Given the description of an element on the screen output the (x, y) to click on. 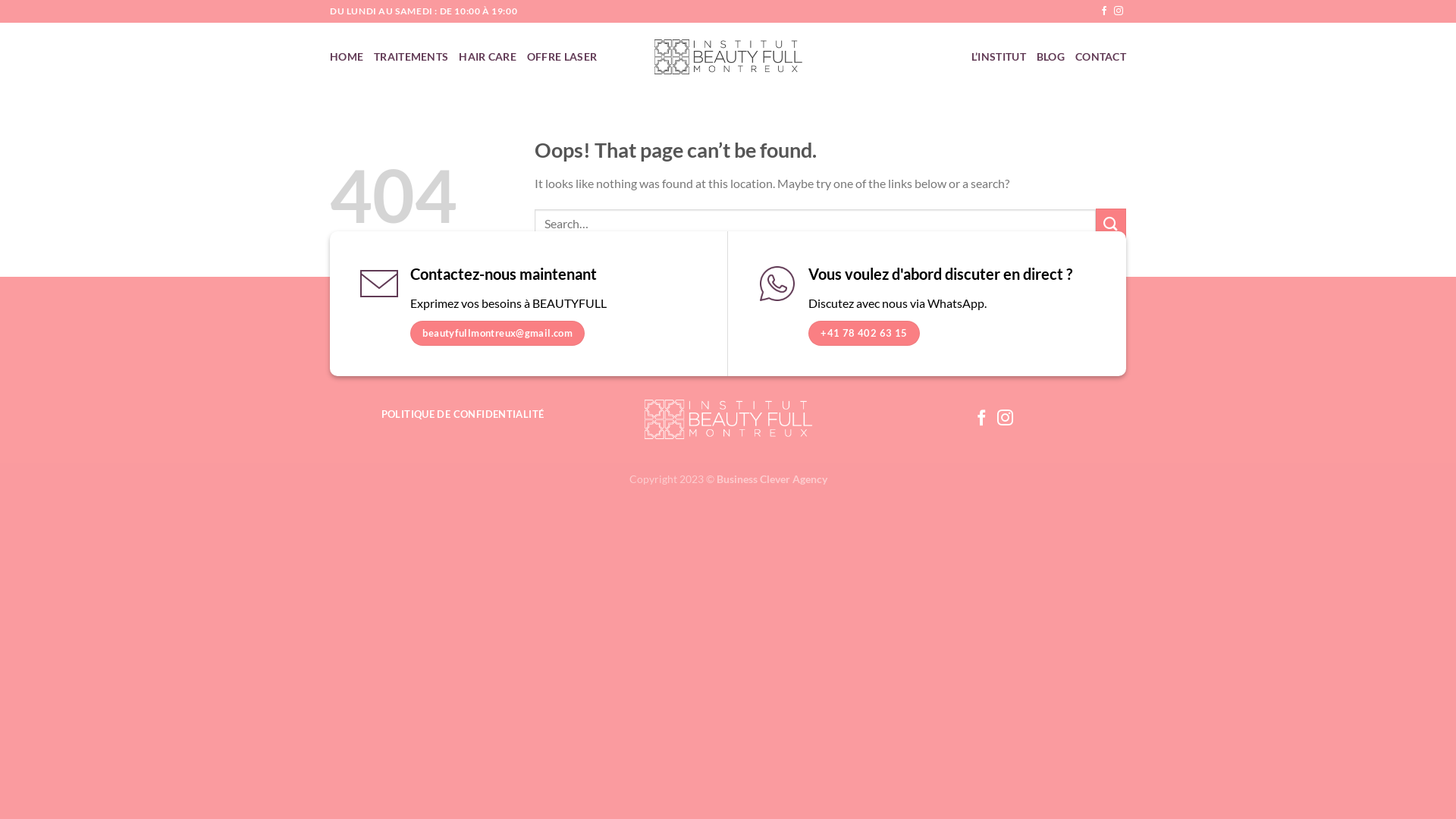
HAIR CARE Element type: text (487, 56)
Follow on Facebook Element type: hover (981, 418)
OFFRE LASER Element type: text (561, 56)
Follow on Facebook Element type: hover (1103, 11)
beautyfullmontreux@gmail.com Element type: text (497, 332)
HOME Element type: text (346, 56)
BLOG Element type: text (1050, 56)
CONTACT Element type: text (1100, 56)
Follow on Instagram Element type: hover (1118, 11)
Follow on Instagram Element type: hover (1005, 418)
TRAITEMENTS Element type: text (410, 56)
+41 78 402 63 15 Element type: text (863, 332)
